Given the description of an element on the screen output the (x, y) to click on. 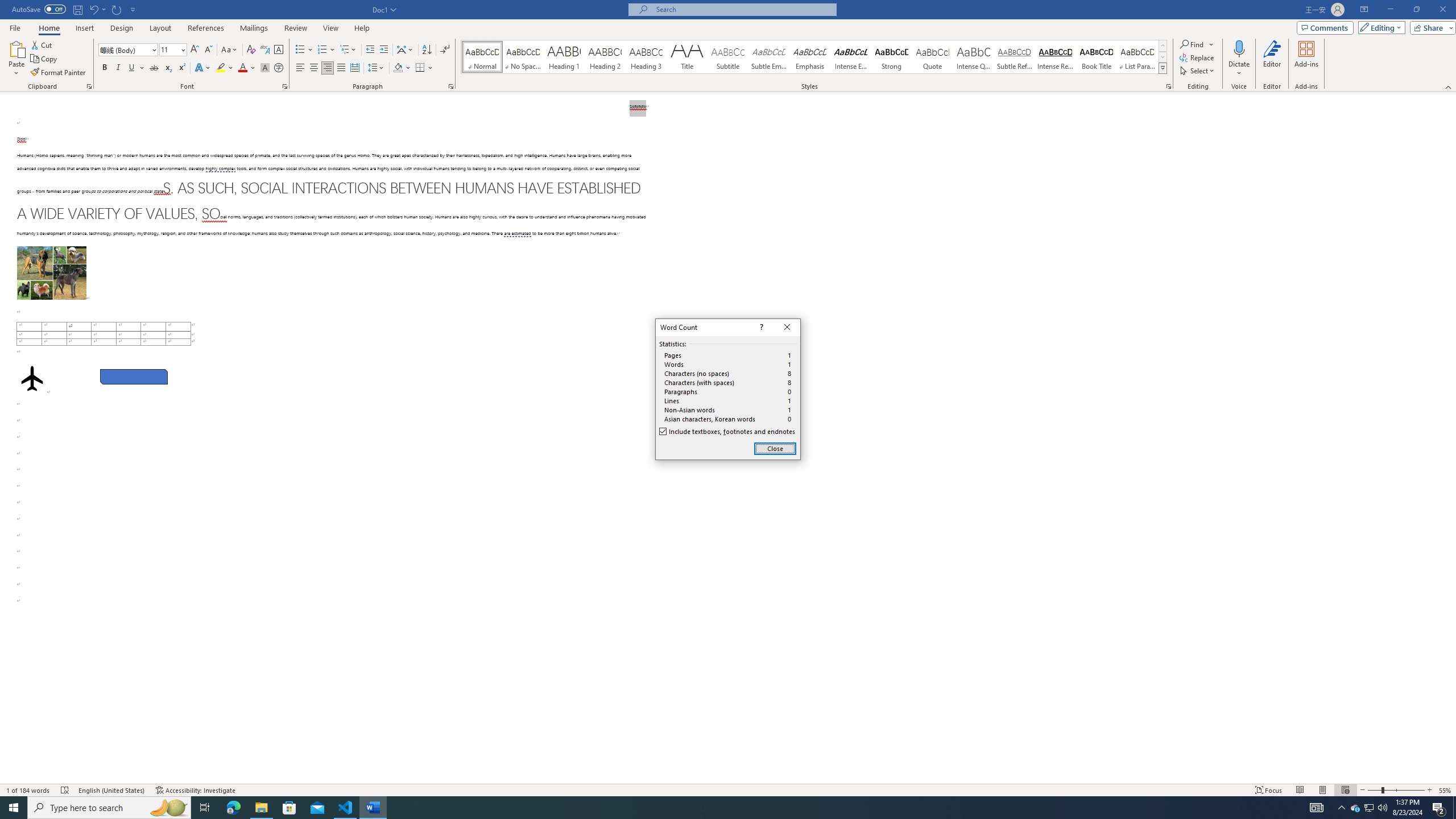
Book Title (1095, 56)
Rectangle: Diagonal Corners Snipped 2 (133, 376)
Word Count 1 of 184 words (28, 790)
Word - 1 running window (373, 807)
